Given the description of an element on the screen output the (x, y) to click on. 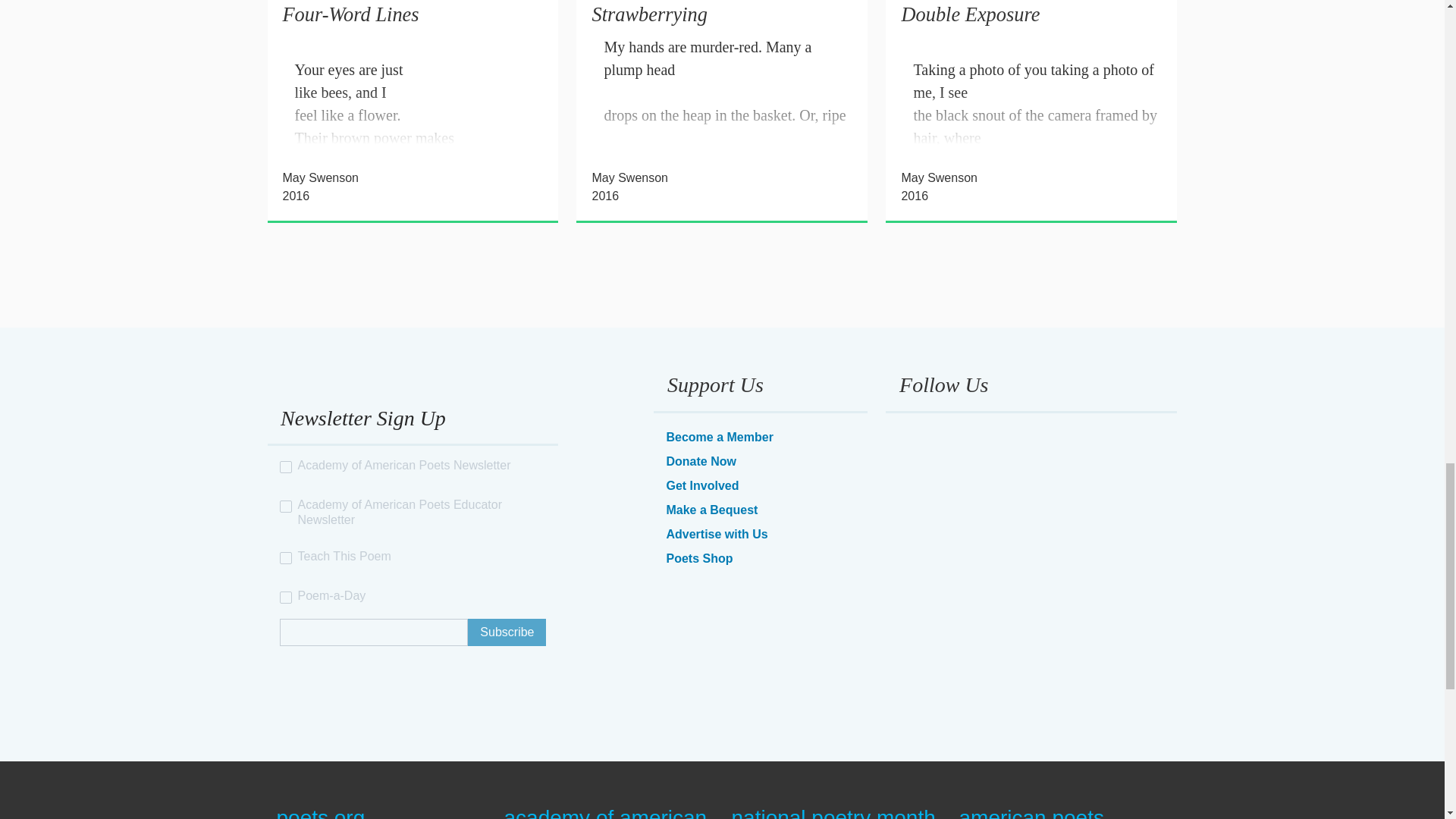
Subscribe (506, 632)
Four-Word Lines (350, 14)
Strawberrying (648, 14)
Double Exposure (970, 14)
